Given the description of an element on the screen output the (x, y) to click on. 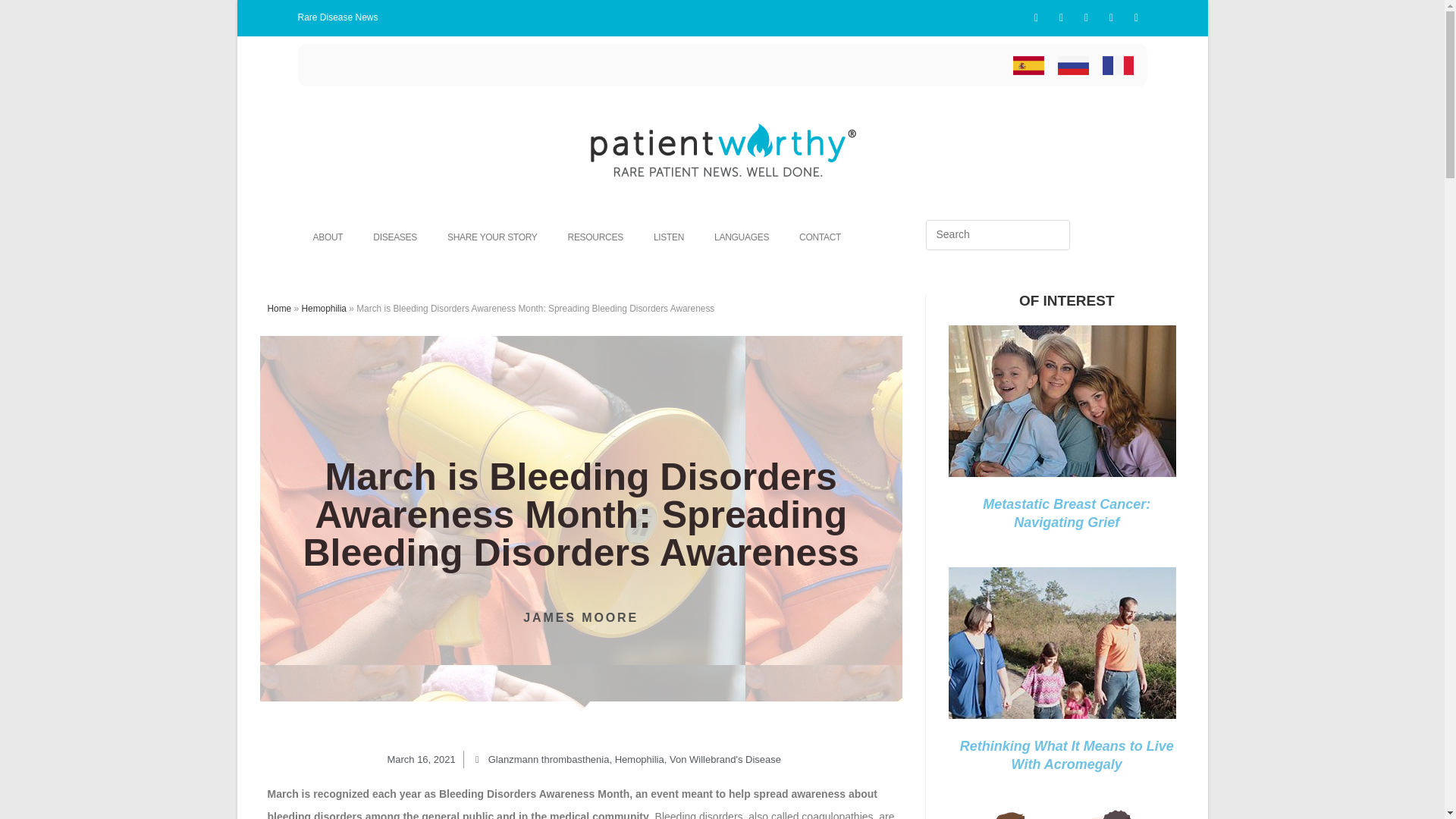
RESOURCES (596, 237)
CONTACT (820, 237)
SHARE YOUR STORY (492, 237)
LANGUAGES (741, 237)
DISEASES (395, 237)
LISTEN (668, 237)
ABOUT (327, 237)
